Given the description of an element on the screen output the (x, y) to click on. 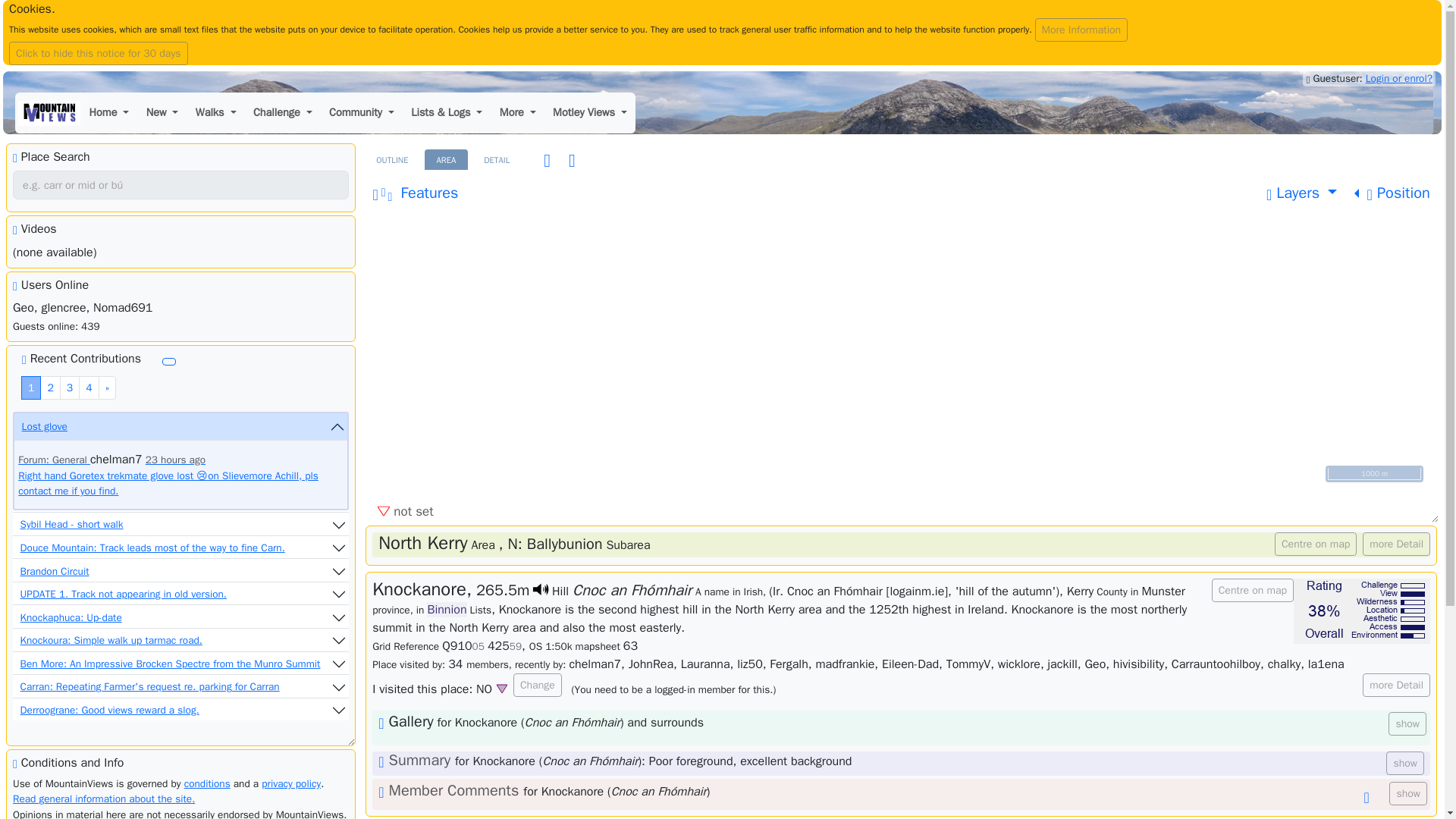
Challenge (282, 112)
Click to hide (721, 32)
More information (1081, 29)
Click to hide this notice for 30 days (97, 53)
New (162, 112)
Set what layers map has (1301, 193)
More Information (1081, 29)
Click map to see features here (414, 193)
Click here to rate this place (1361, 610)
Home (108, 112)
